Given the description of an element on the screen output the (x, y) to click on. 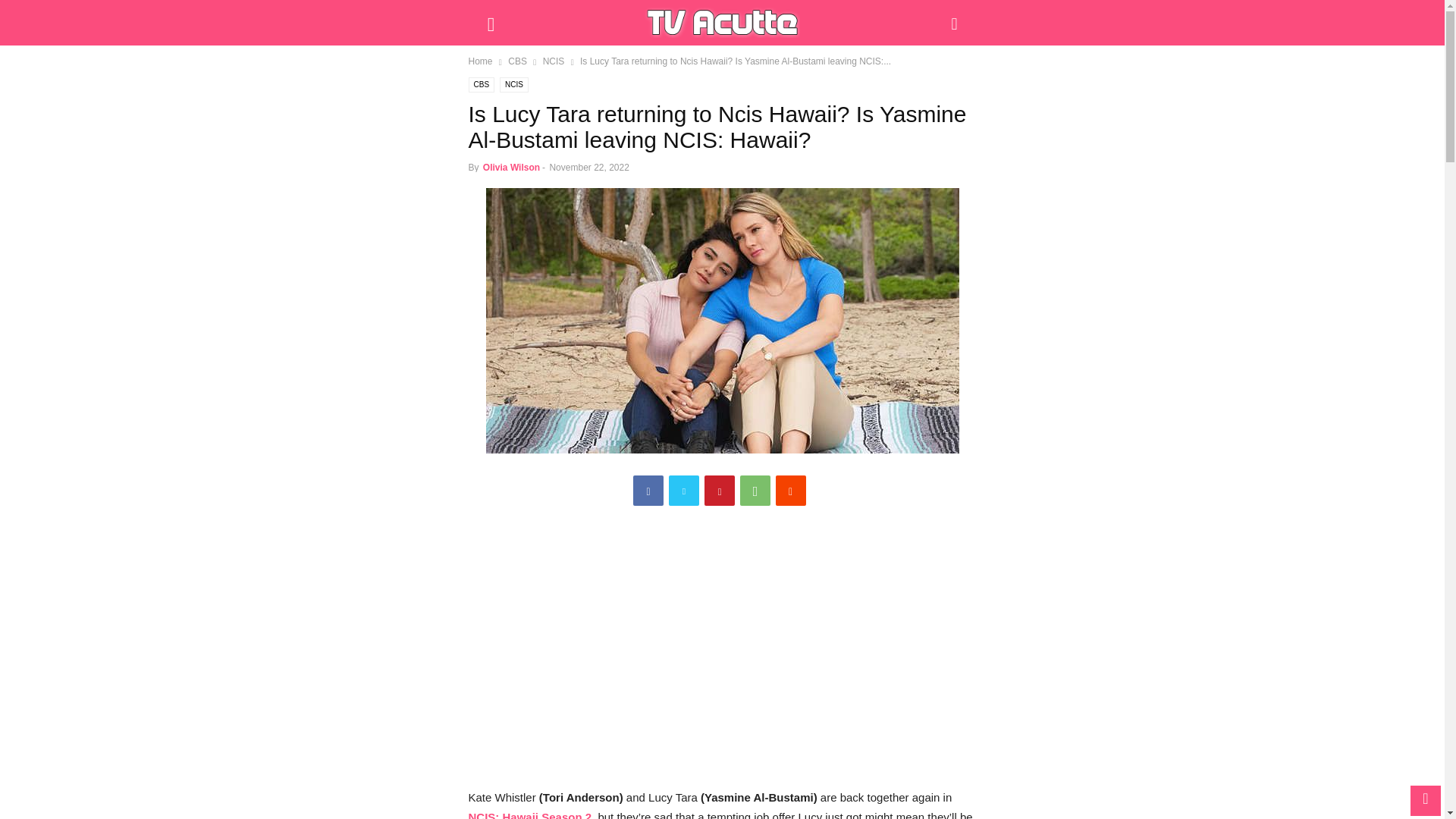
CBS (481, 84)
NCIS (553, 61)
ReddIt (791, 490)
Facebook (648, 490)
View all posts in NCIS (553, 61)
NCIS: Hawaii Season 2 (530, 814)
WhatsApp (754, 490)
Olivia Wilson (511, 167)
Twitter (683, 490)
CBS (517, 61)
TV Acutte (722, 22)
3rd party ad content (722, 654)
NCIS (513, 84)
TV Acutte (722, 22)
